Given the description of an element on the screen output the (x, y) to click on. 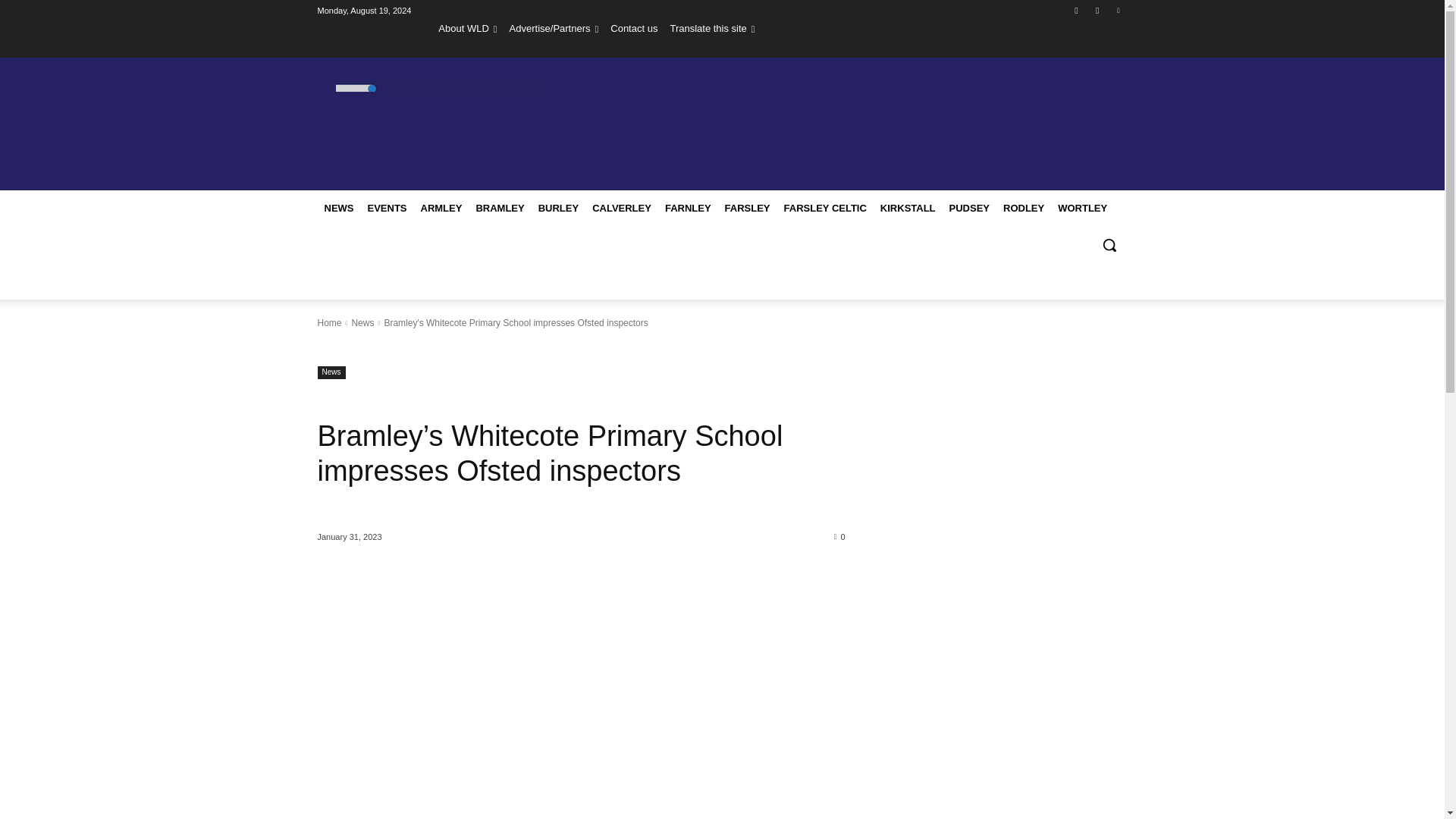
About WLD (467, 28)
Contact us (634, 28)
Translate this site (711, 28)
